Given the description of an element on the screen output the (x, y) to click on. 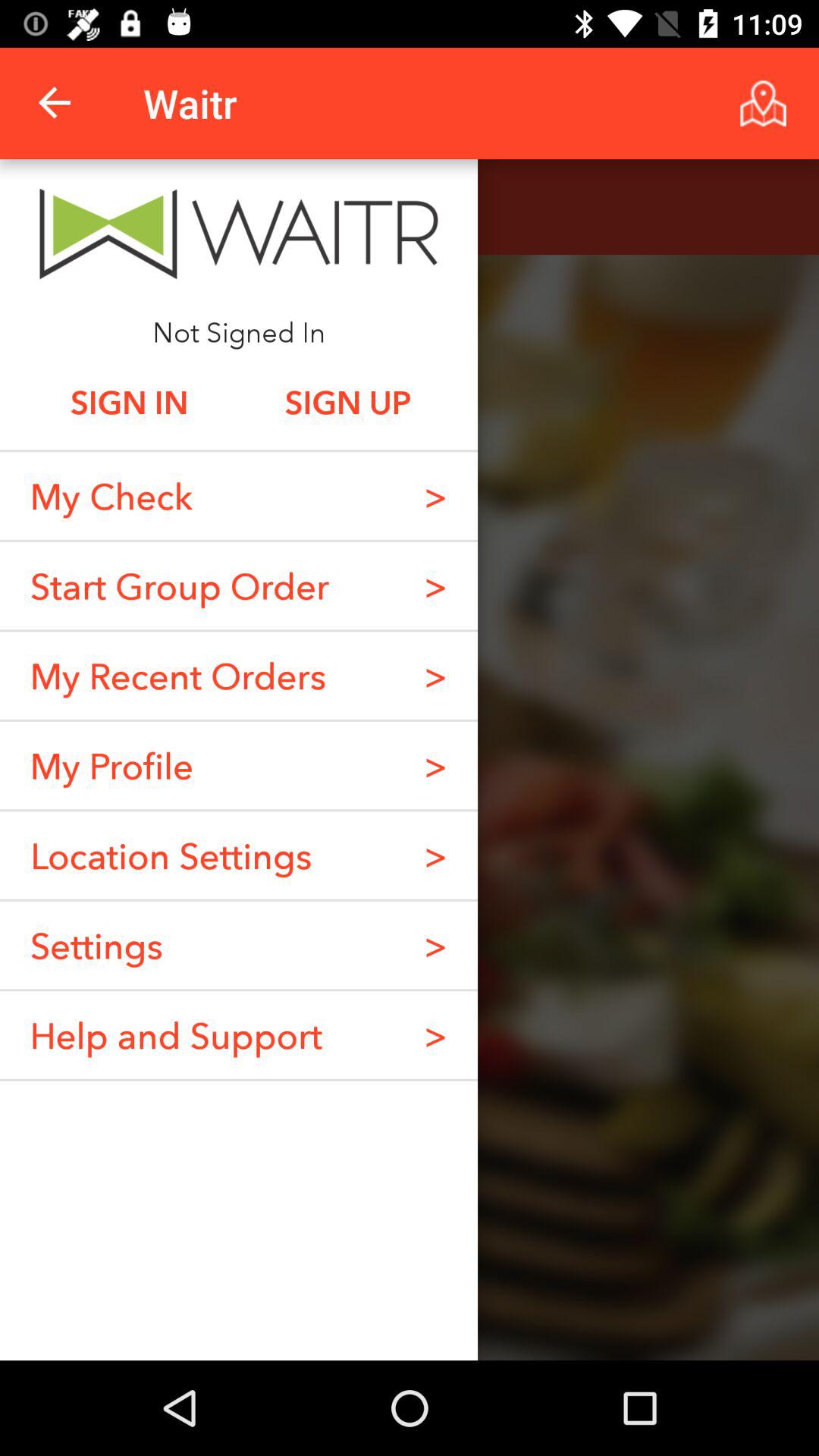
launch icon to the left of the > (179, 585)
